Given the description of an element on the screen output the (x, y) to click on. 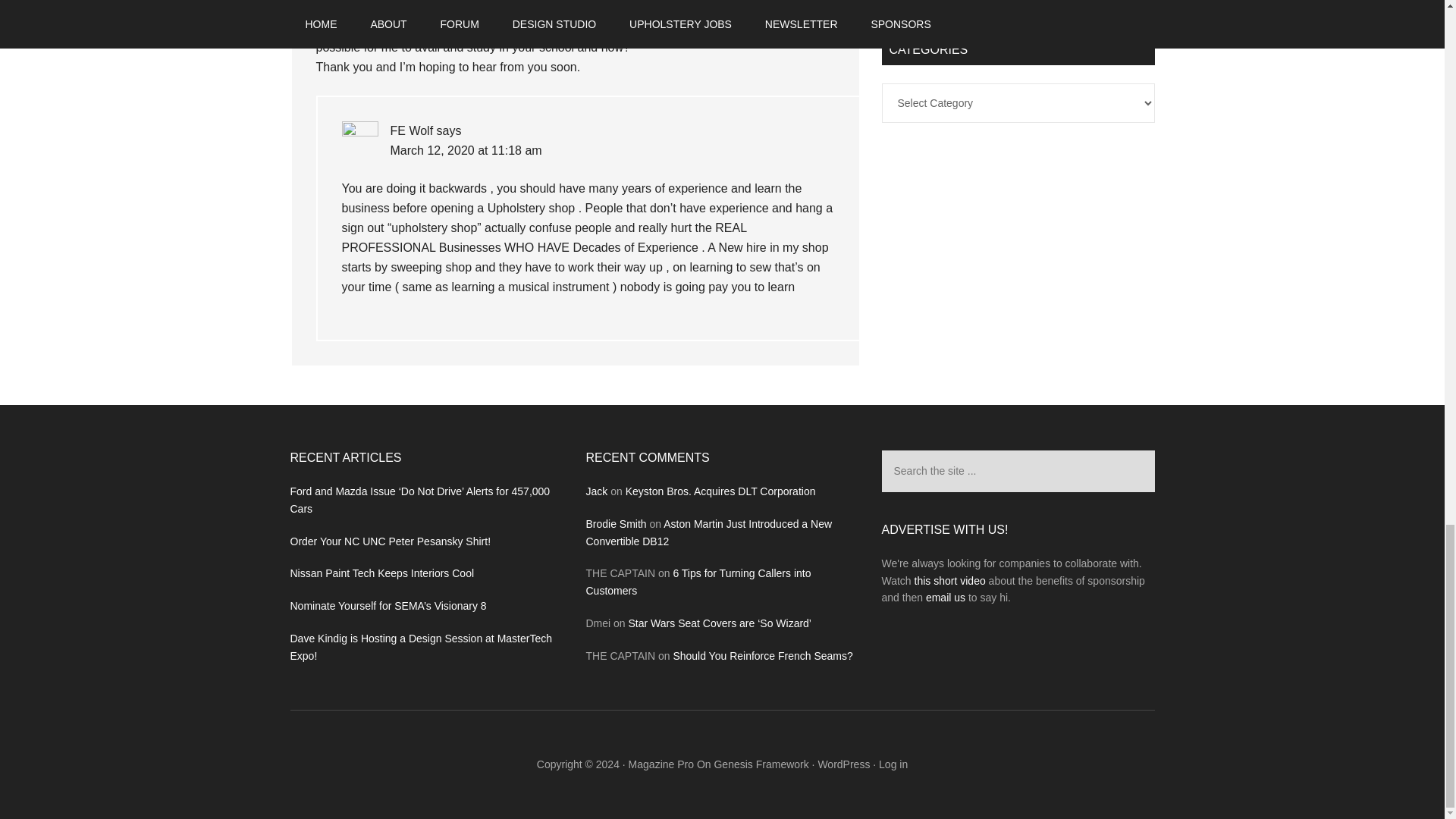
March 12, 2020 at 11:18 am (465, 150)
